Given the description of an element on the screen output the (x, y) to click on. 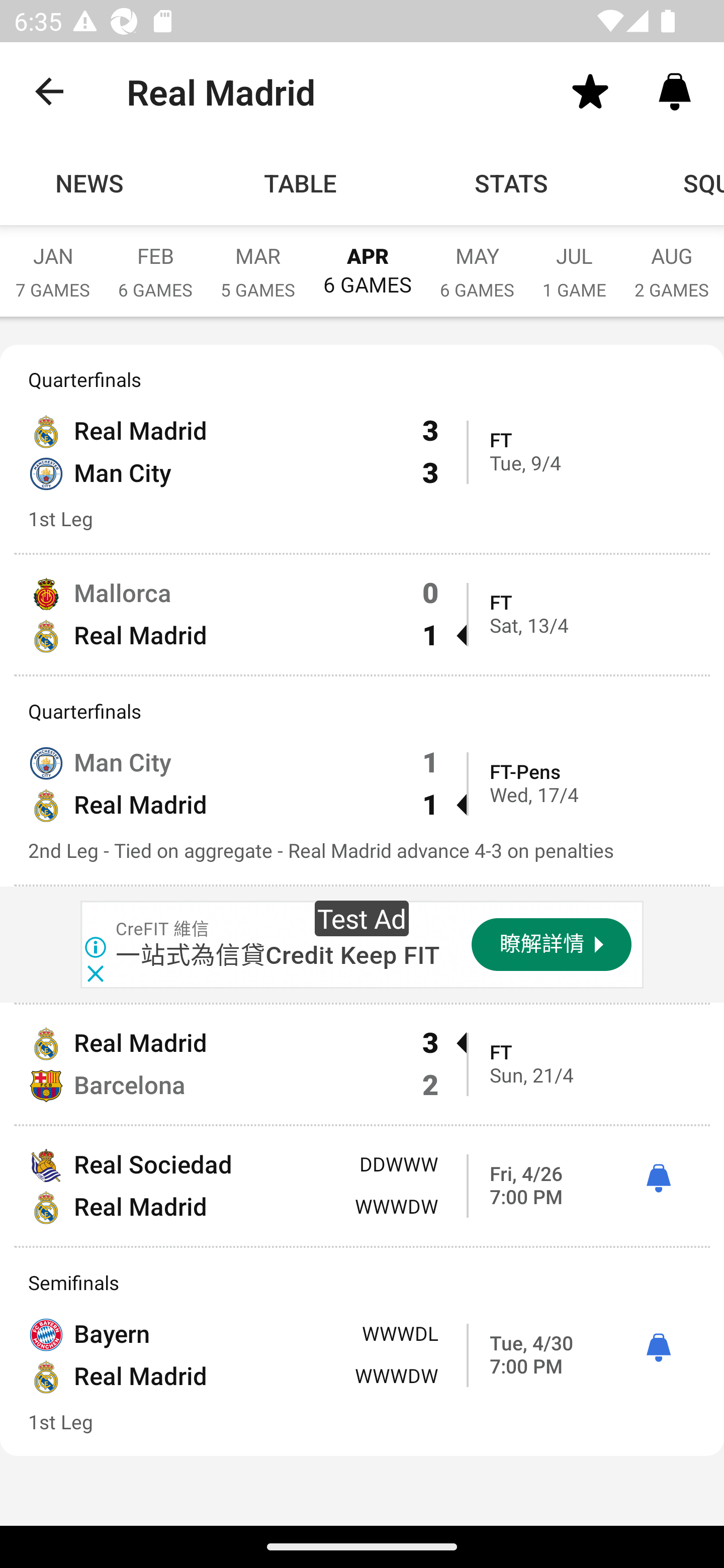
back.button (49, 90)
Favorite toggle (590, 90)
Alerts (674, 90)
News NEWS (97, 183)
Table TABLE (300, 183)
Stats STATS (511, 183)
JAN 7 GAMES (52, 262)
FEB 6 GAMES (155, 262)
MAR 5 GAMES (257, 262)
APR 6 GAMES (367, 261)
MAY 6 GAMES (476, 262)
JUL 1 GAME (574, 262)
AUG 2 GAMES (671, 262)
Mallorca 0 Real Madrid 1  FT Sat, 13/4 (362, 614)
CreFIT 維信 (162, 929)
瞭解詳情 (551, 944)
一站式為信貸Credit Keep FIT (277, 954)
Real Madrid 3  Barcelona 2 FT Sun, 21/4 (362, 1064)
ì (658, 1178)
ì (658, 1348)
